Given the description of an element on the screen output the (x, y) to click on. 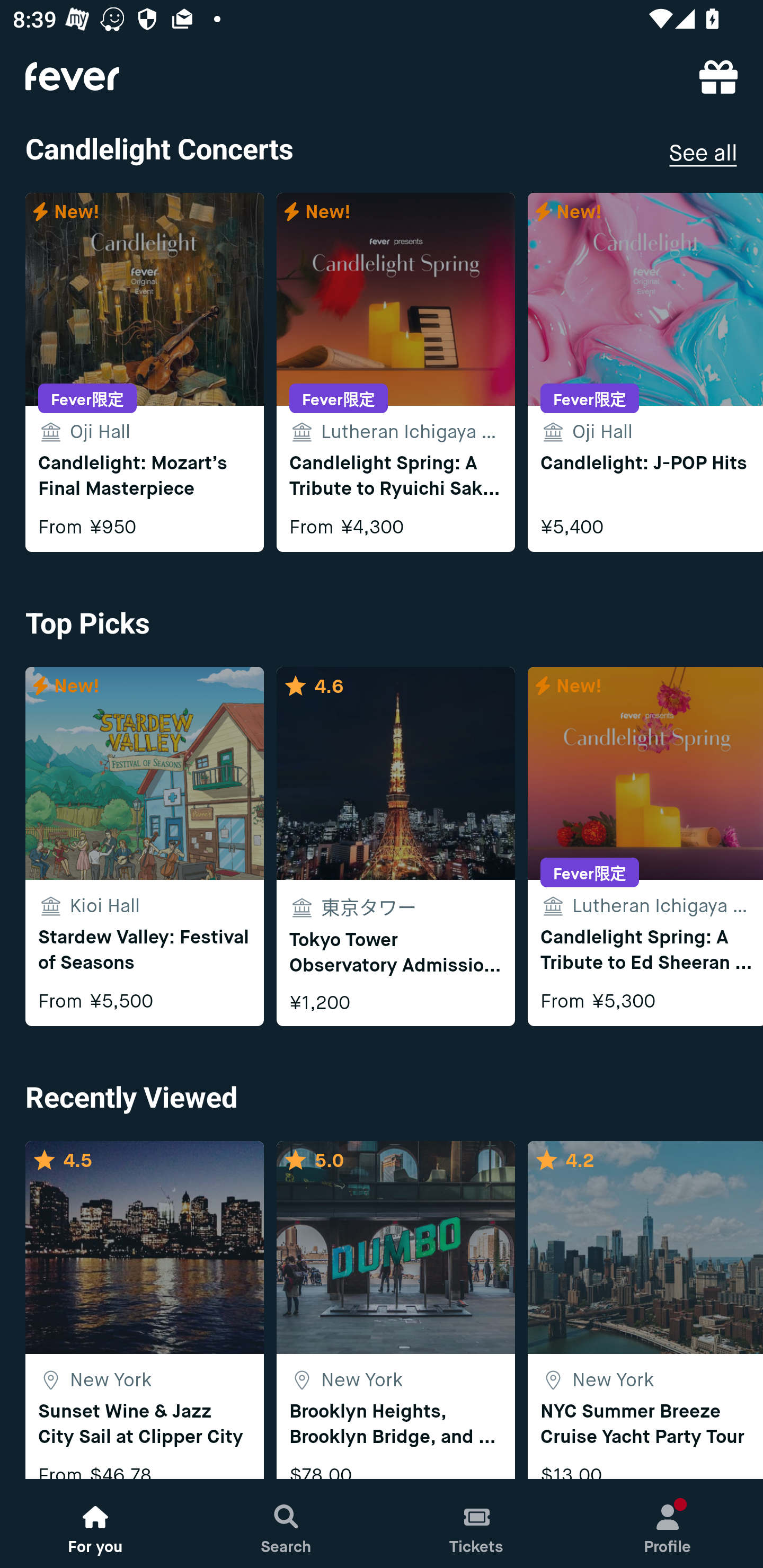
referral (718, 75)
See all (702, 153)
Search (285, 1523)
Tickets (476, 1523)
Profile, New notification Profile (667, 1523)
